Given the description of an element on the screen output the (x, y) to click on. 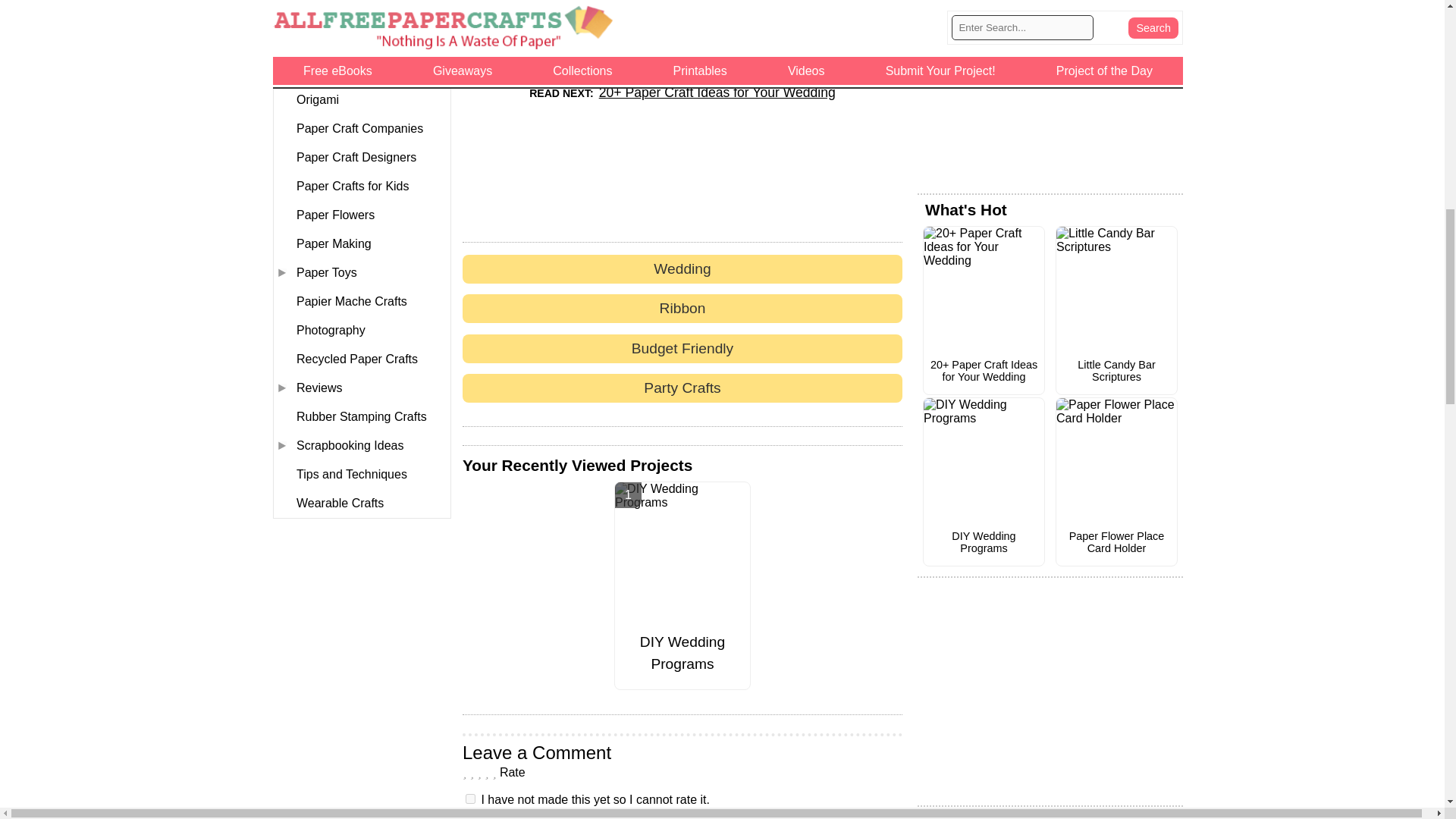
Facebook (682, 39)
Email (829, 39)
1 (470, 798)
